Given the description of an element on the screen output the (x, y) to click on. 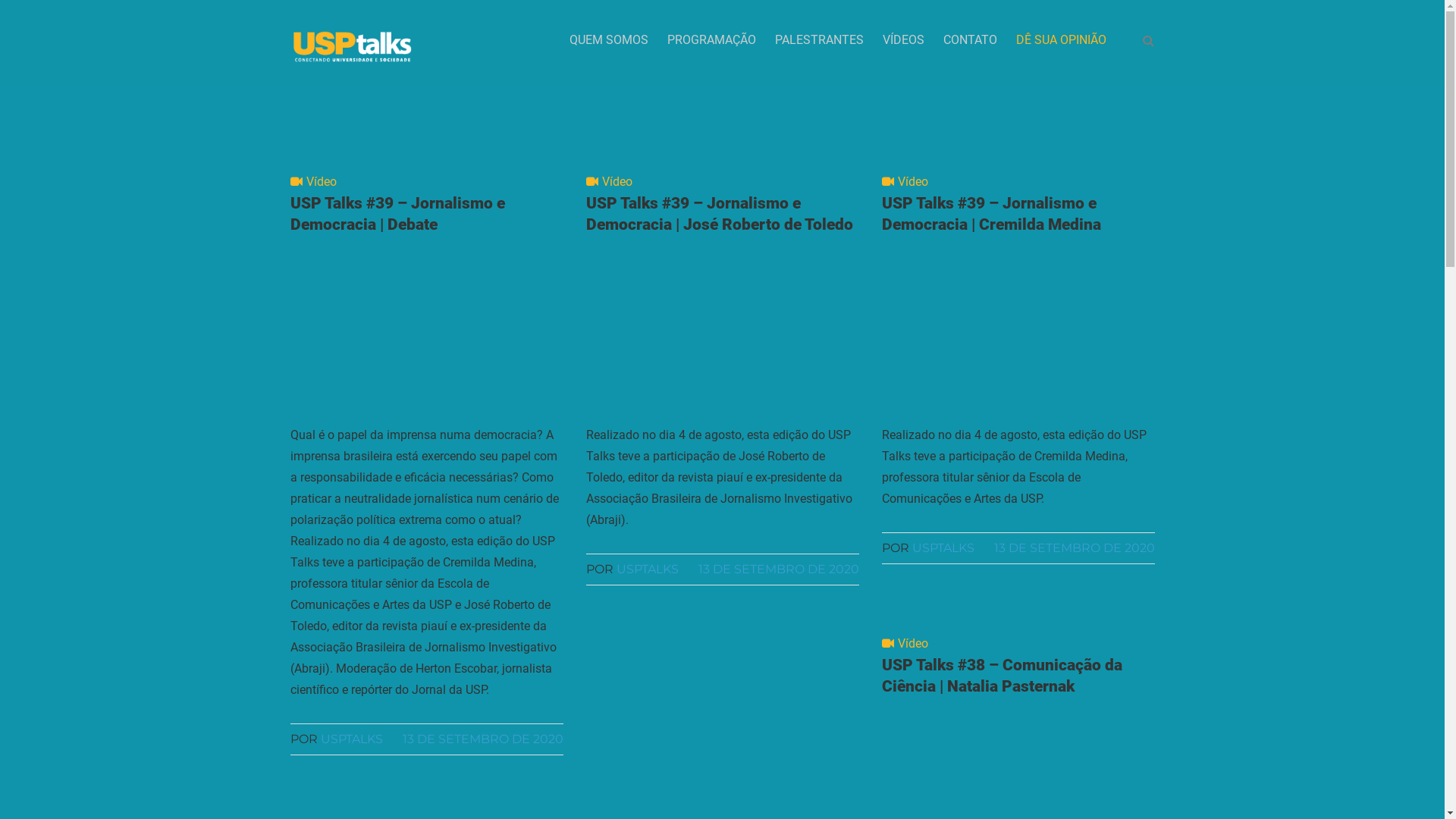
13 DE SETEMBRO DE 2020 Element type: text (481, 738)
PALESTRANTES Element type: text (819, 39)
13 DE SETEMBRO DE 2020 Element type: text (777, 568)
CONTATO Element type: text (970, 39)
USPTALKS Element type: text (942, 547)
USPTALKS Element type: text (351, 738)
QUEM SOMOS Element type: text (607, 39)
13 DE SETEMBRO DE 2020 Element type: text (1073, 547)
USPTALKS Element type: text (646, 568)
